Given the description of an element on the screen output the (x, y) to click on. 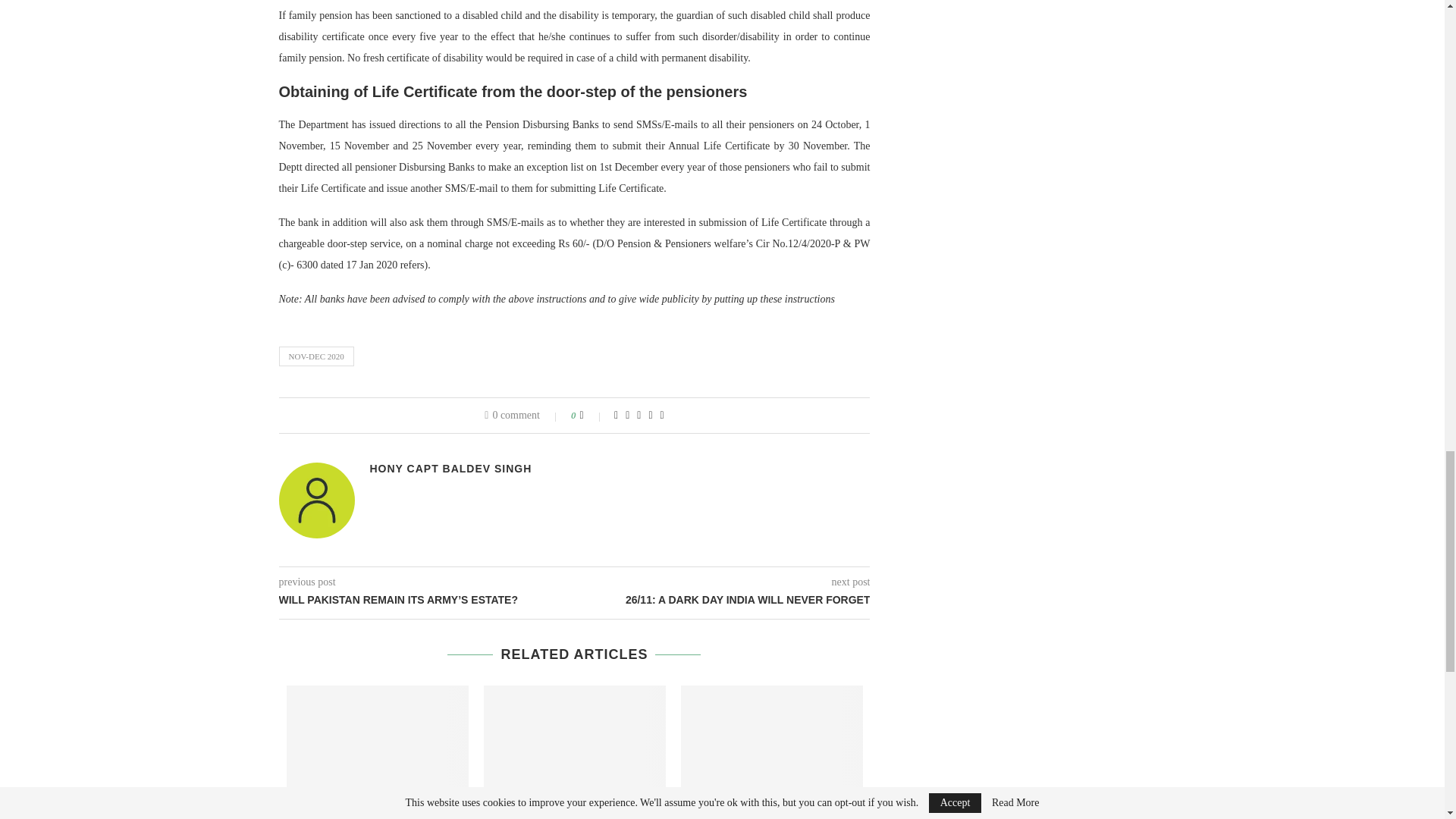
NOV-DEC 2020 (316, 356)
Veteran Alert: Medical care and more (772, 745)
HONY CAPT BALDEV SINGH (450, 468)
Like (591, 415)
Author Hony Capt Baldev Singh (450, 468)
The need to utilise ex-servicemen in rural development (377, 745)
